Given the description of an element on the screen output the (x, y) to click on. 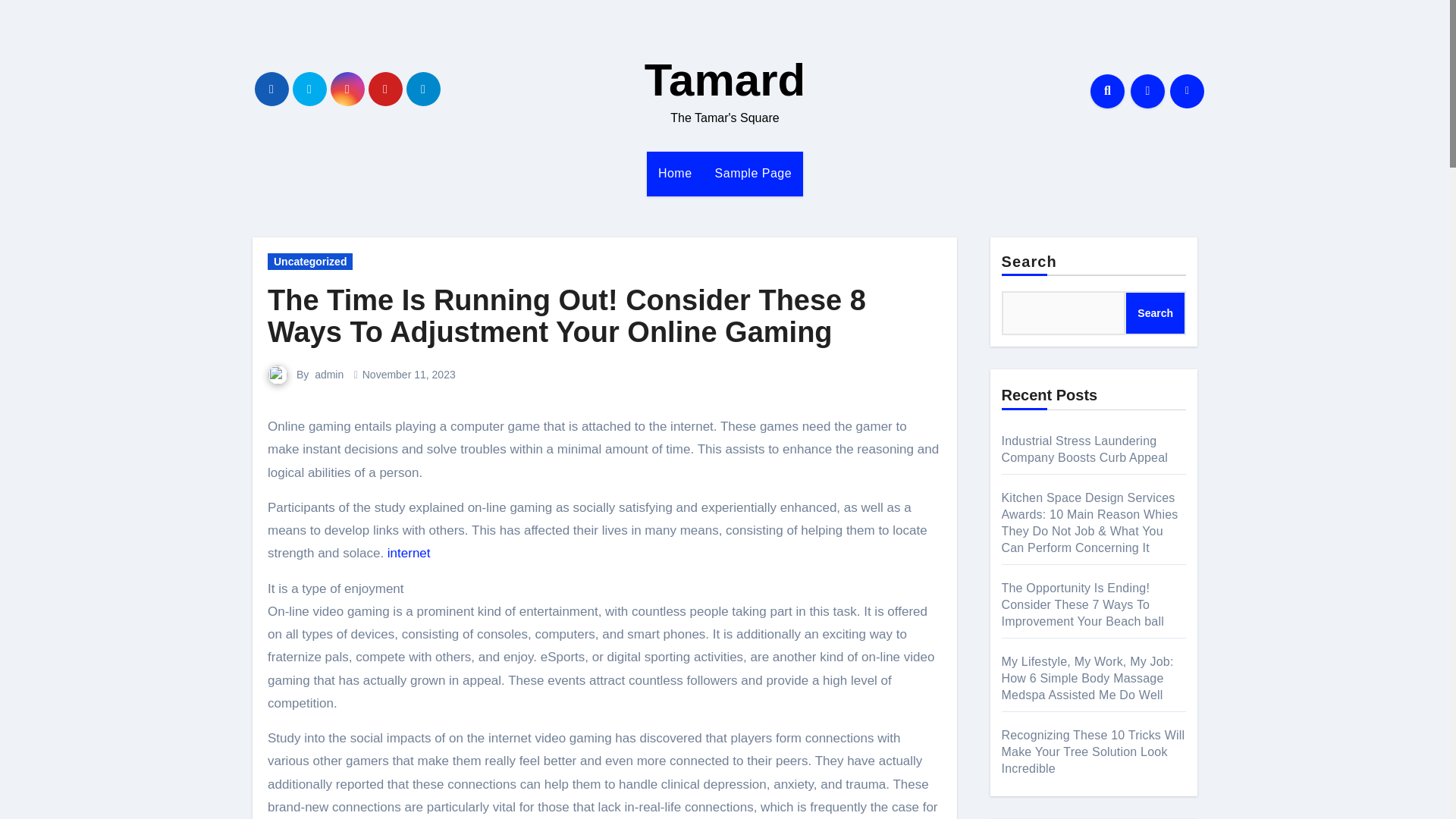
admin (328, 374)
Home (674, 173)
internet (408, 553)
Sample Page (753, 173)
November 11, 2023 (408, 374)
Tamard (725, 79)
Home (674, 173)
Uncategorized (309, 261)
